Given the description of an element on the screen output the (x, y) to click on. 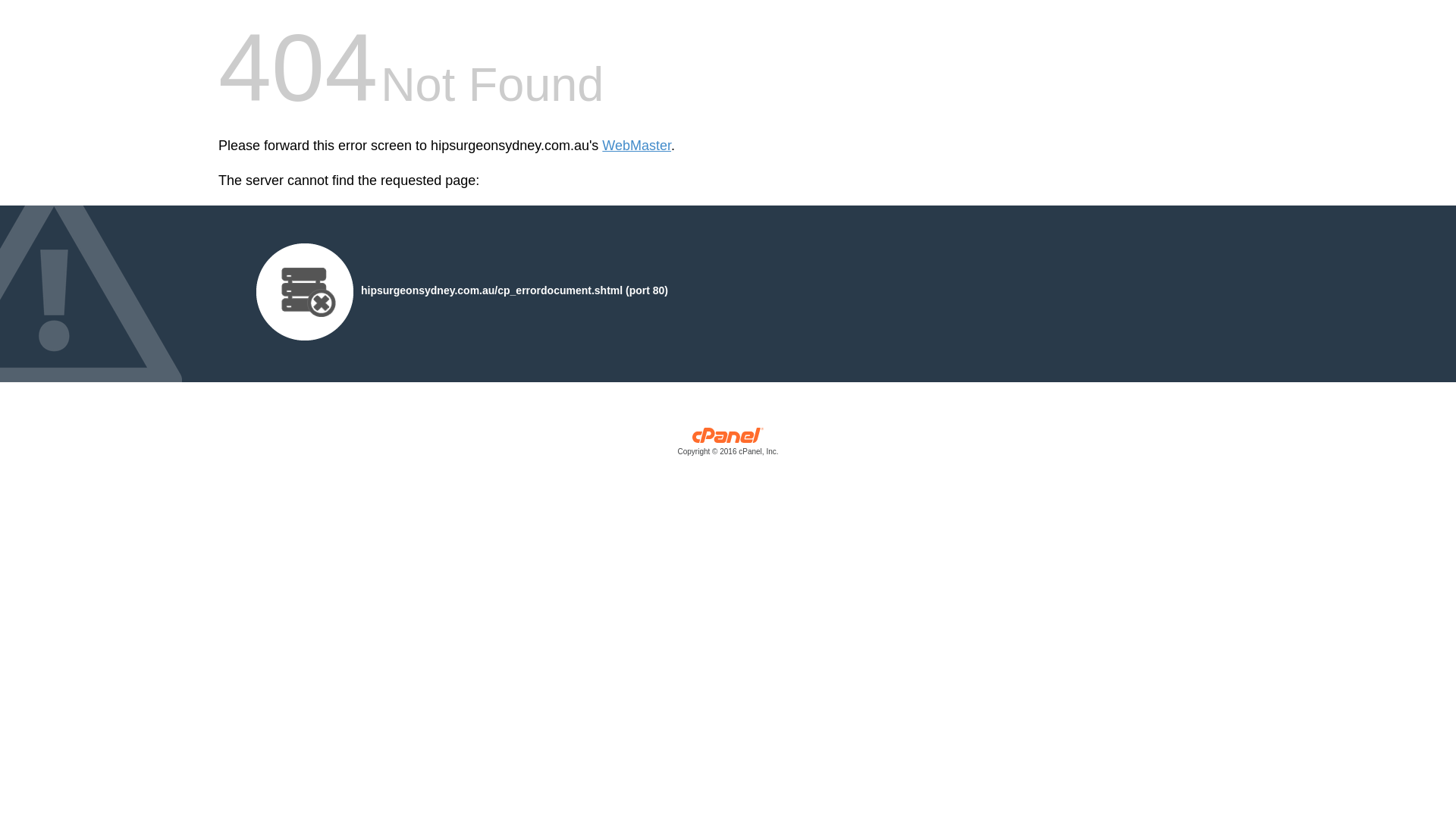
WebMaster Element type: text (636, 145)
